Given the description of an element on the screen output the (x, y) to click on. 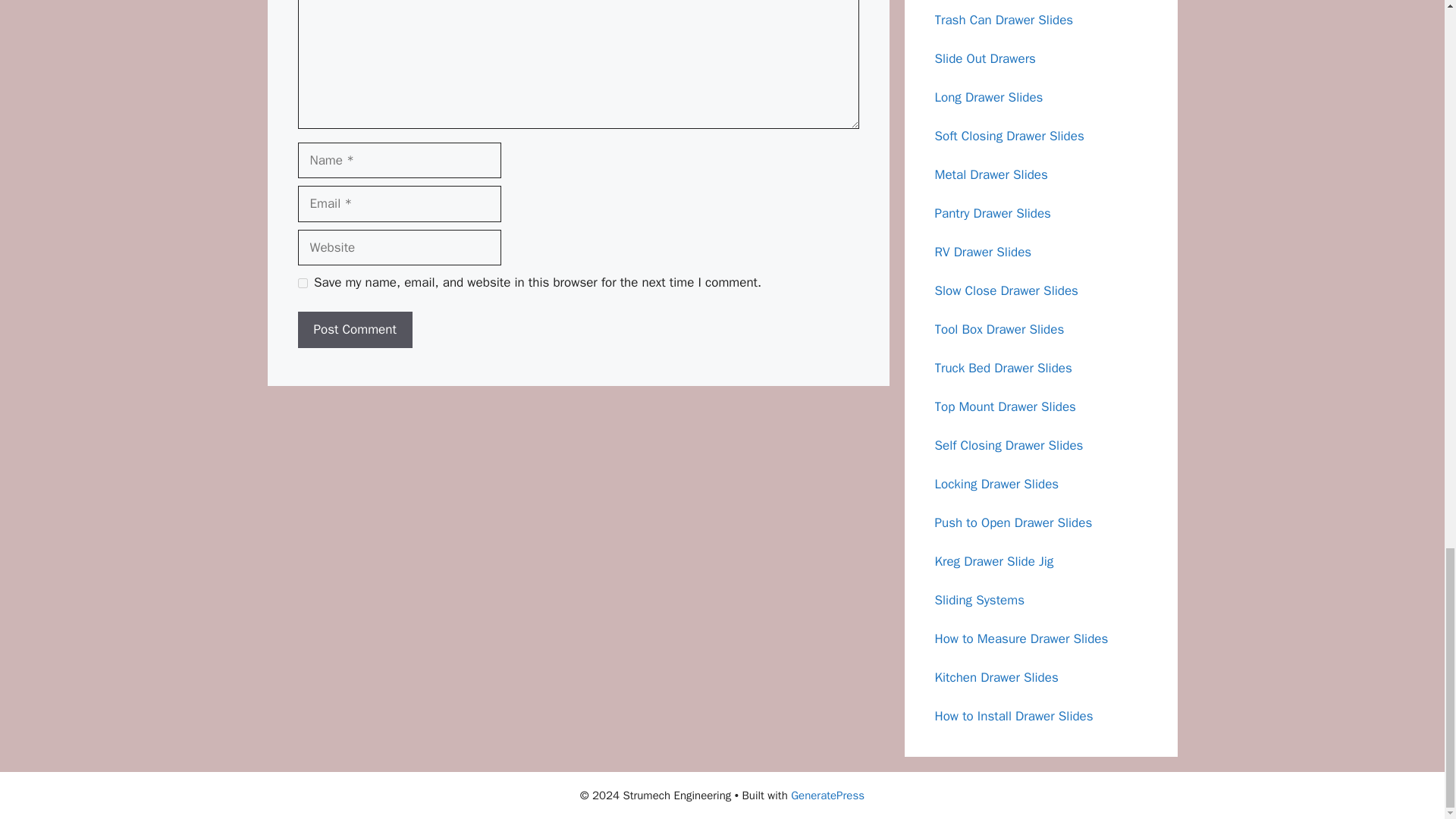
Post Comment (354, 330)
yes (302, 283)
Post Comment (354, 330)
